Given the description of an element on the screen output the (x, y) to click on. 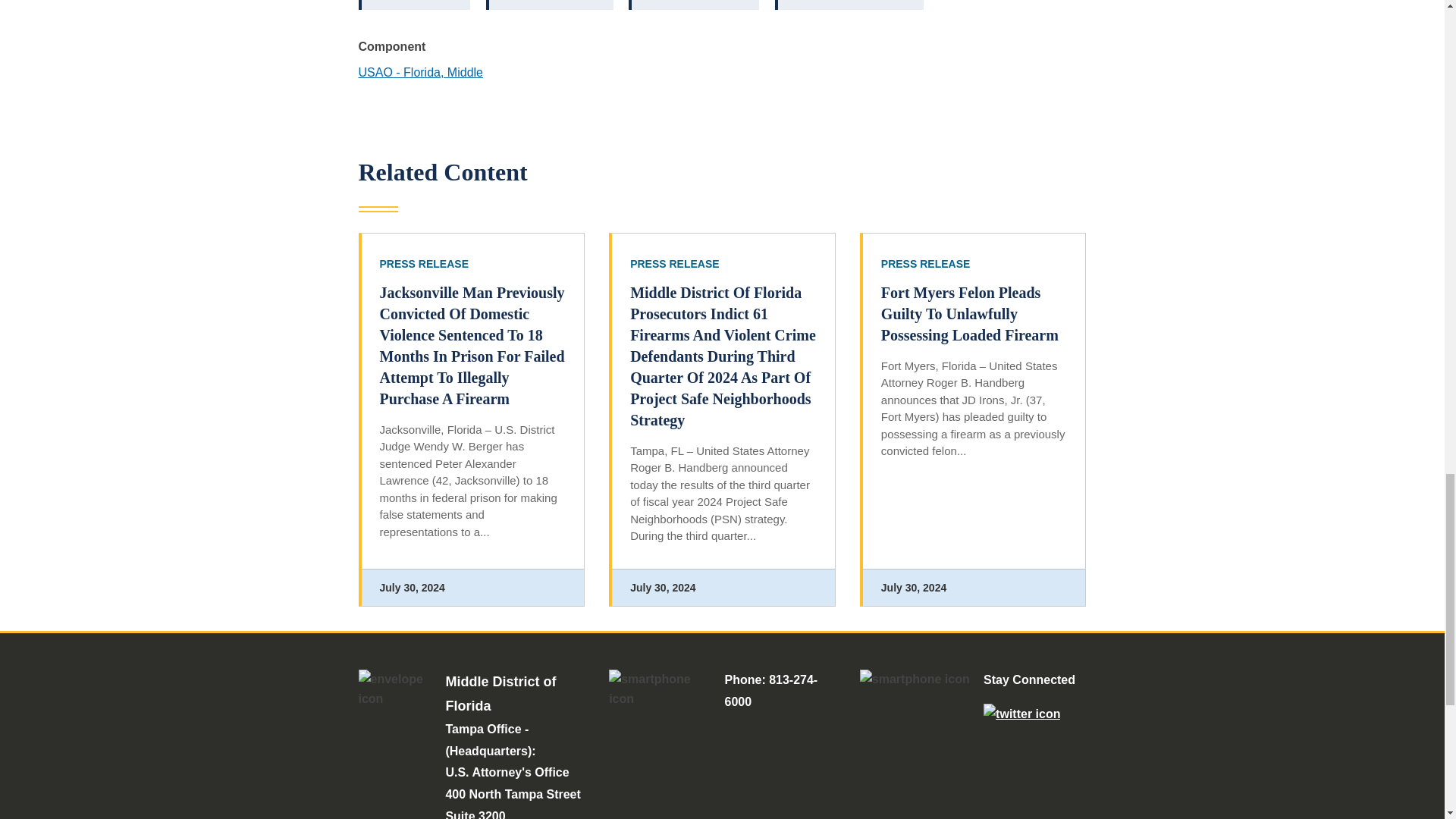
USAO - Florida, Middle (420, 72)
